Given the description of an element on the screen output the (x, y) to click on. 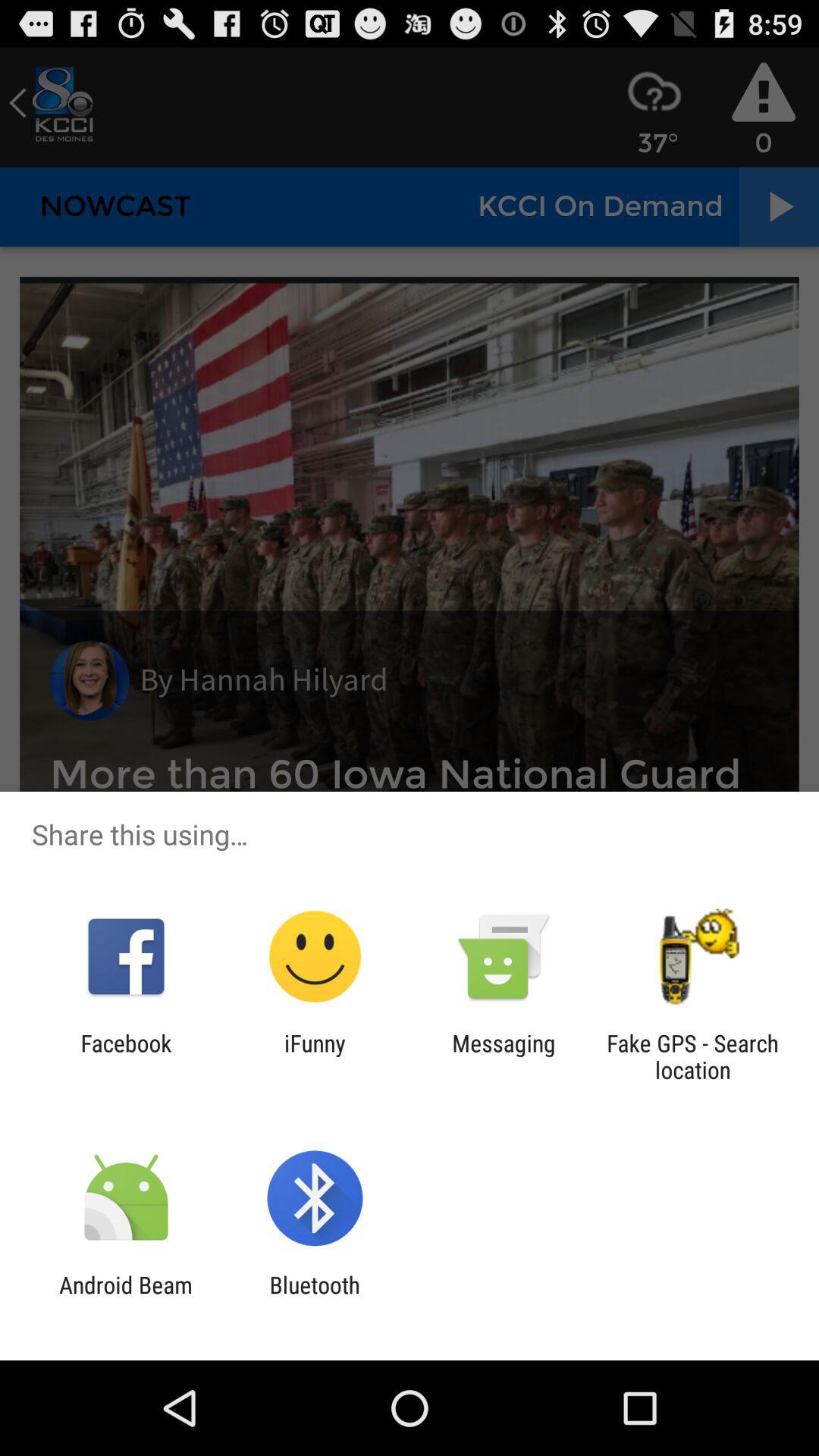
turn off item to the left of the bluetooth icon (125, 1298)
